Given the description of an element on the screen output the (x, y) to click on. 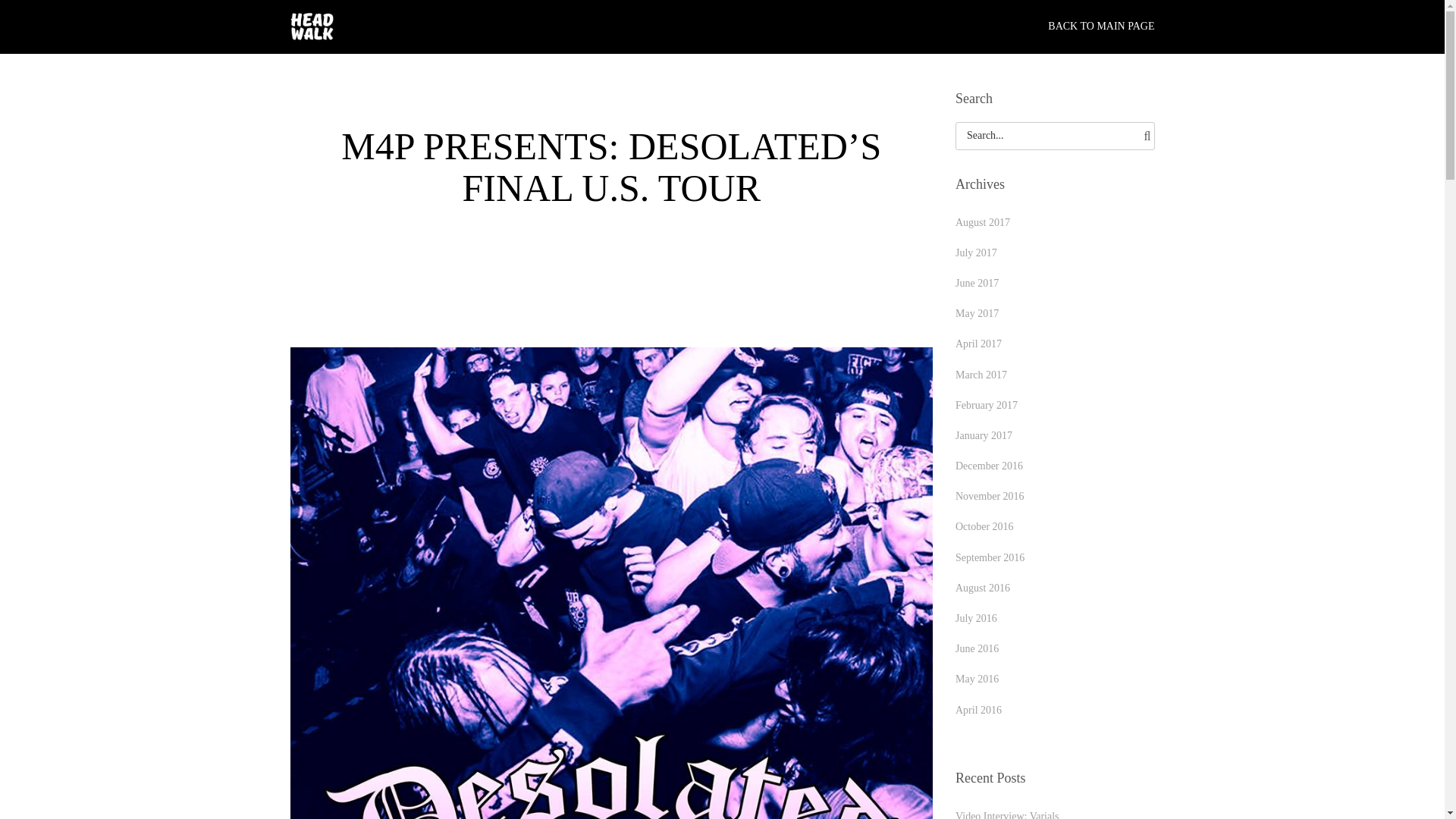
April 2017 (978, 343)
July 2017 (976, 252)
August 2017 (982, 222)
May 2017 (976, 313)
June 2017 (976, 283)
March 2017 (981, 374)
BACK TO MAIN PAGE (1101, 26)
